Given the description of an element on the screen output the (x, y) to click on. 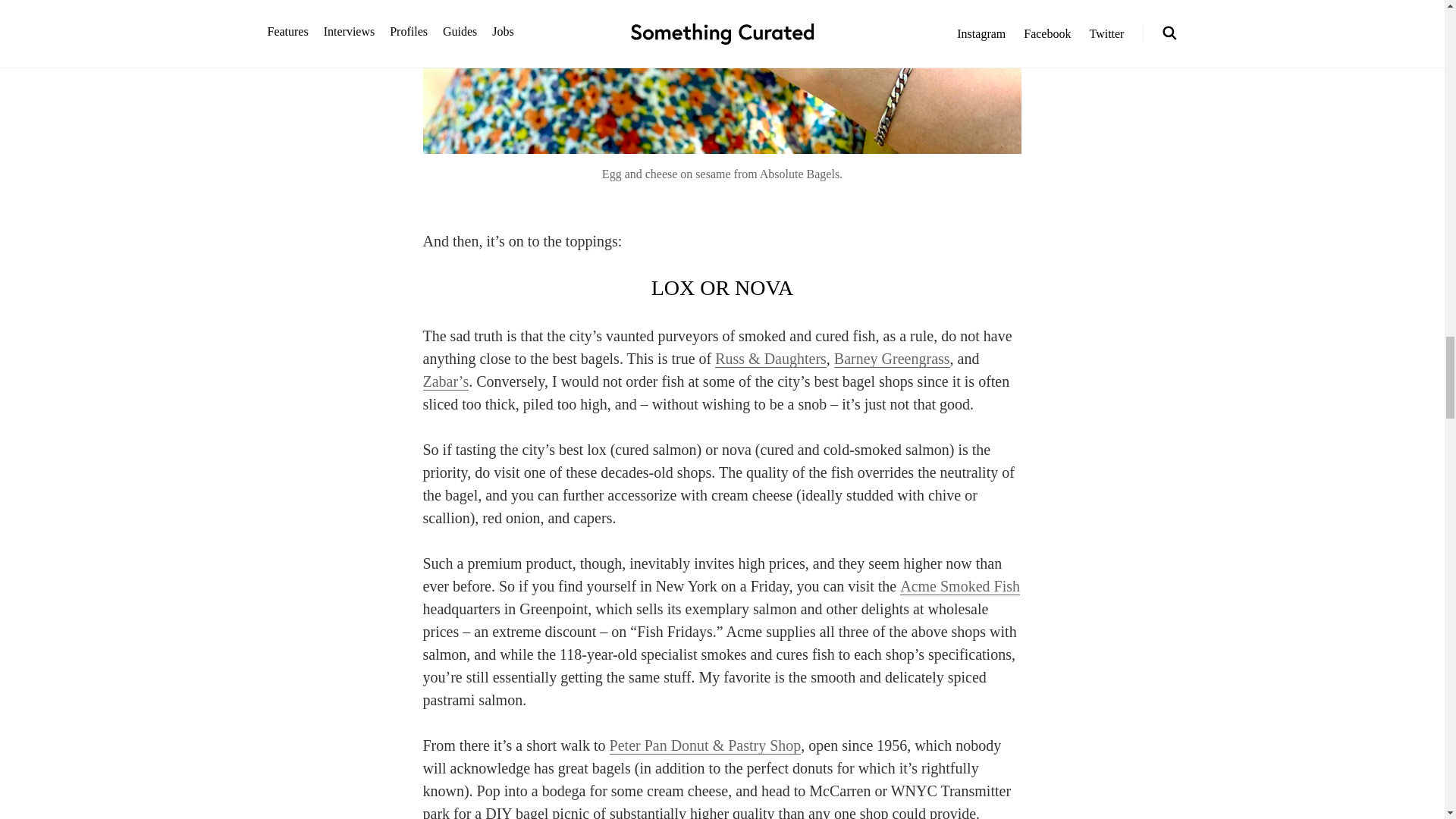
Barney Greengrass (892, 358)
Acme Smoked Fish (959, 586)
